Given the description of an element on the screen output the (x, y) to click on. 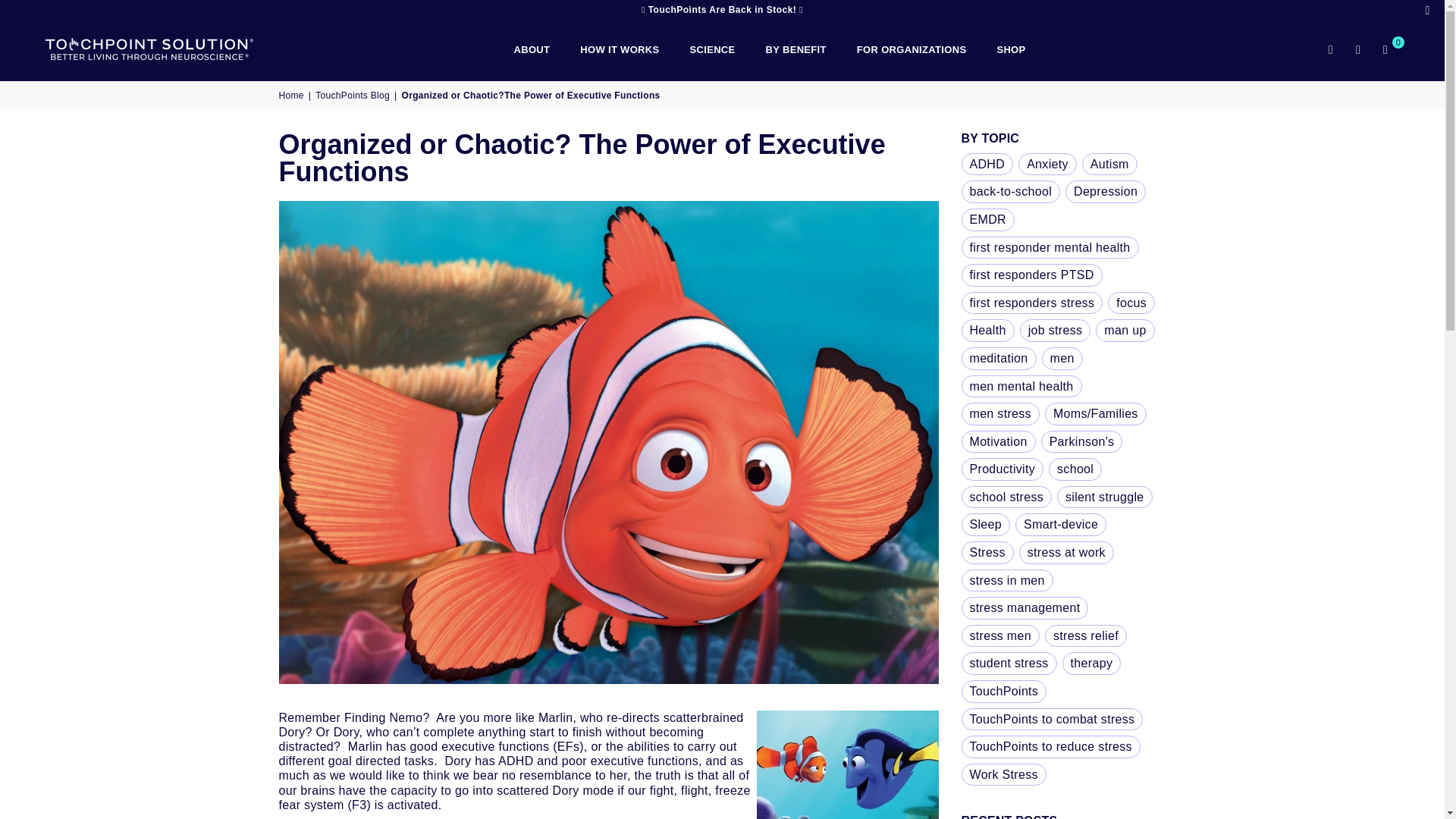
Search (1330, 49)
Cart (1385, 49)
0 (1385, 49)
Back to the home page (292, 95)
Show articles tagged back-to-school (1010, 191)
Show articles tagged EMDR (987, 219)
Show articles tagged Autism (1109, 164)
Show articles tagged Depression (1105, 191)
HOW IT WORKS (619, 50)
Show articles tagged Anxiety (1047, 164)
